Given the description of an element on the screen output the (x, y) to click on. 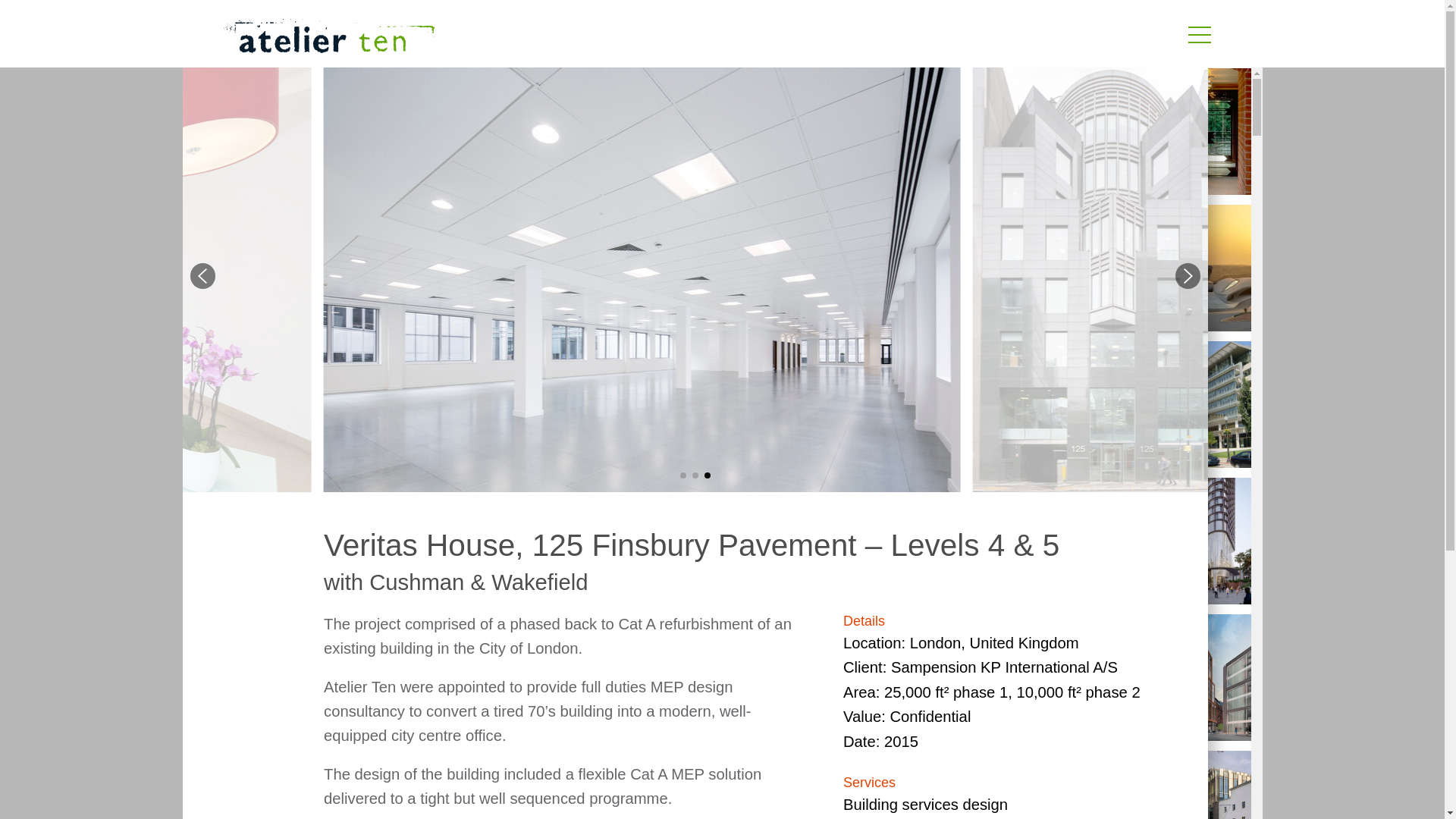
logo (536, 38)
logo (327, 35)
Click to go to the Atelier Ten homepage (536, 38)
